Given the description of an element on the screen output the (x, y) to click on. 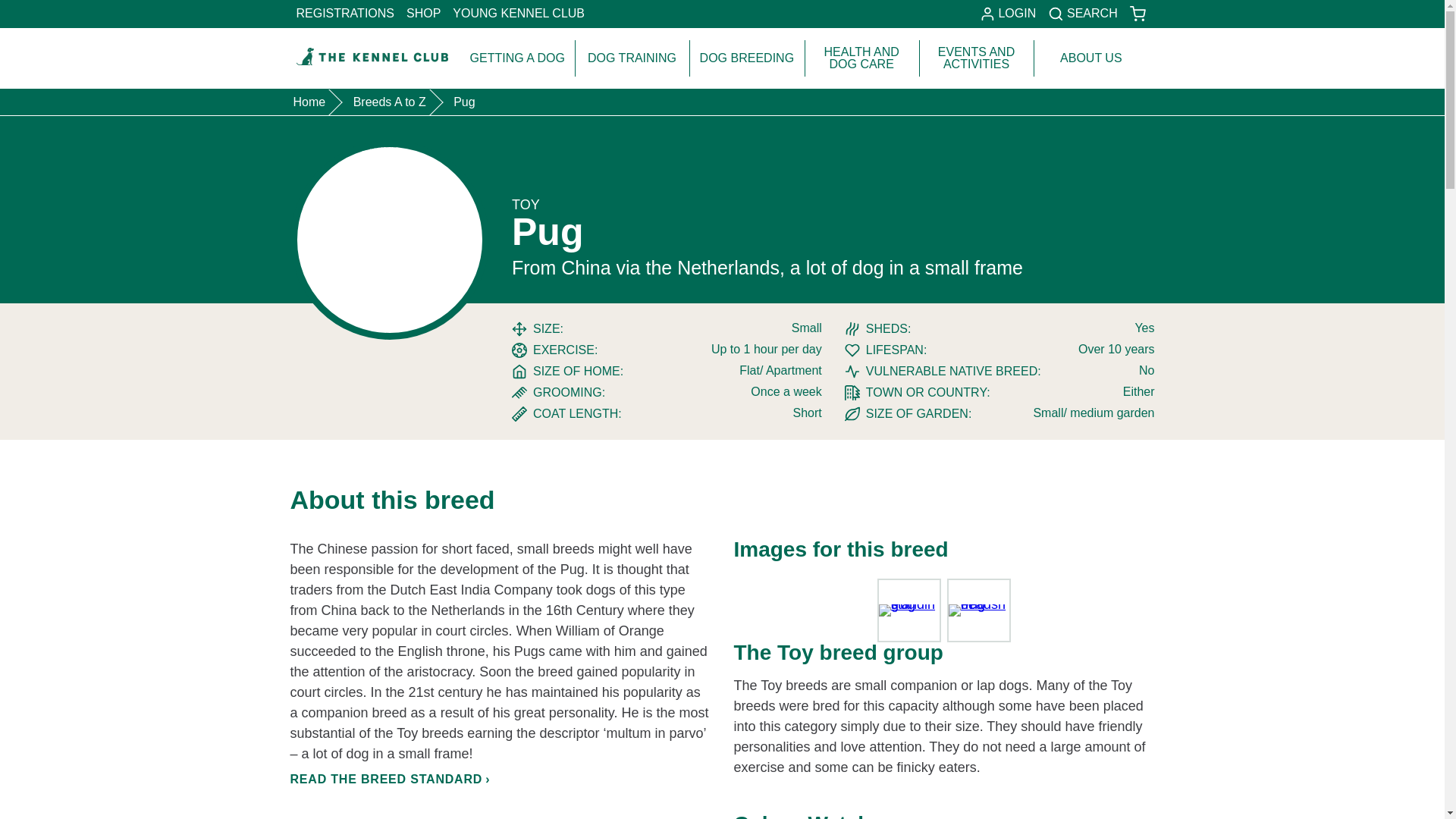
SHOP (423, 13)
REGISTRATIONS (344, 13)
YOUNG KENNEL CLUB (518, 13)
DOG TRAINING (631, 57)
GETTING A DOG (517, 57)
DOG BREEDING (745, 57)
LOGIN (1008, 13)
